Given the description of an element on the screen output the (x, y) to click on. 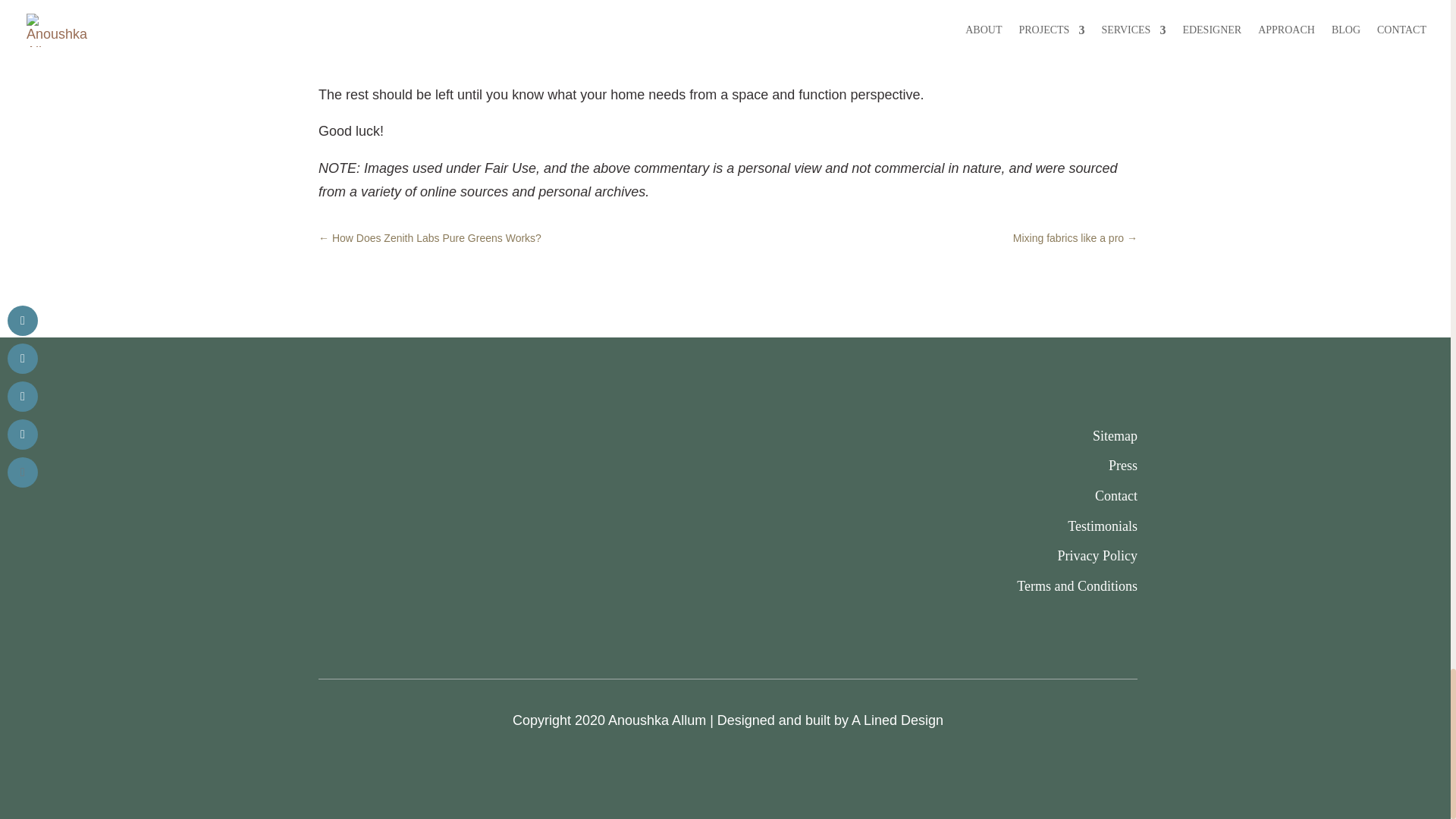
Contact (1115, 495)
Sitemap (1115, 435)
Privacy Policy (1097, 555)
Testimonials (1102, 525)
A Lined Design (897, 720)
Press (1122, 465)
Terms and Conditions (1076, 585)
